Given the description of an element on the screen output the (x, y) to click on. 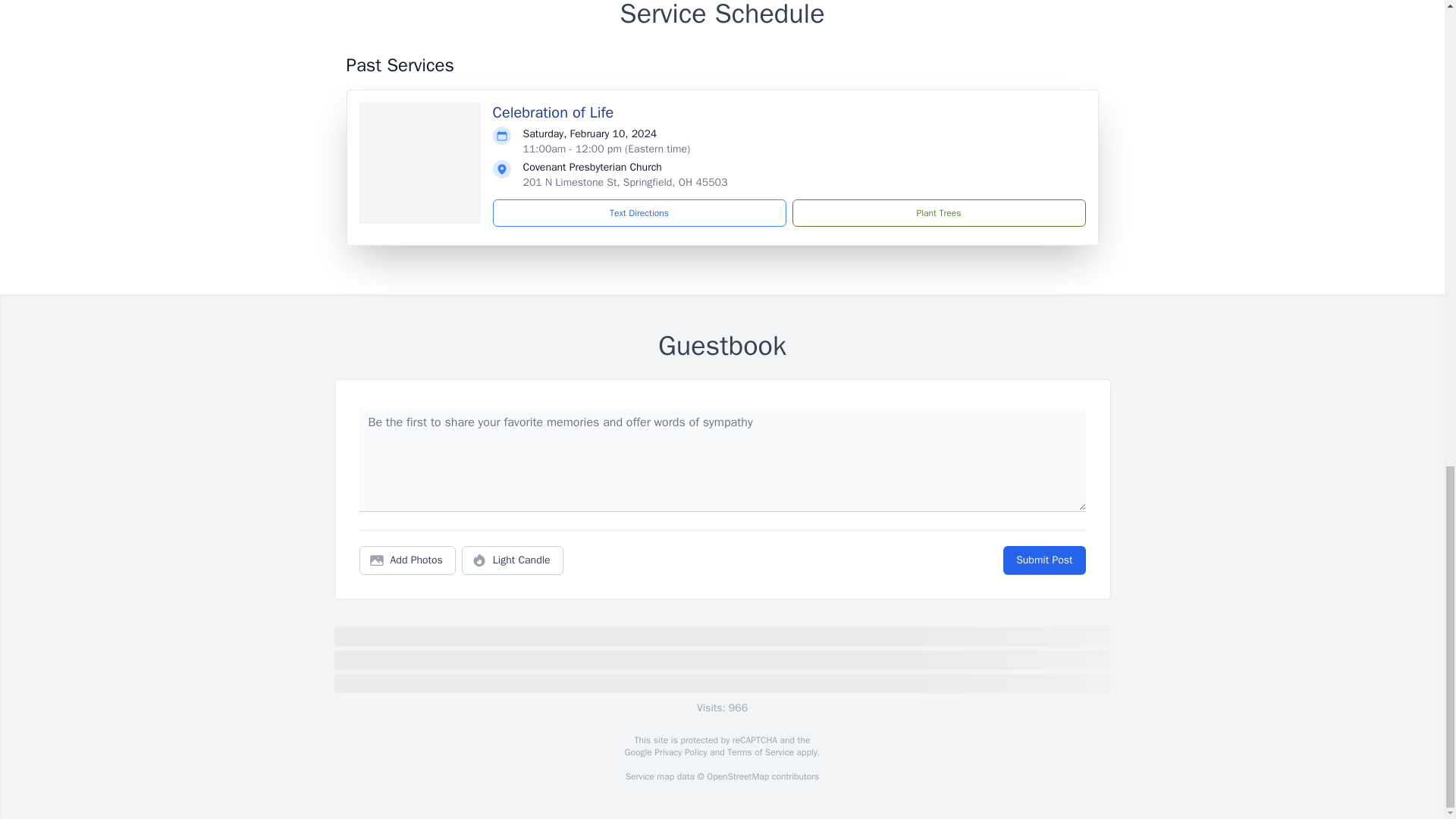
OpenStreetMap (737, 776)
Light Candle (512, 560)
Submit Post (1043, 560)
Plant Trees (938, 212)
Add Photos (407, 560)
Privacy Policy (679, 752)
201 N Limestone St, Springfield, OH 45503 (625, 182)
Text Directions (639, 212)
Terms of Service (759, 752)
